Given the description of an element on the screen output the (x, y) to click on. 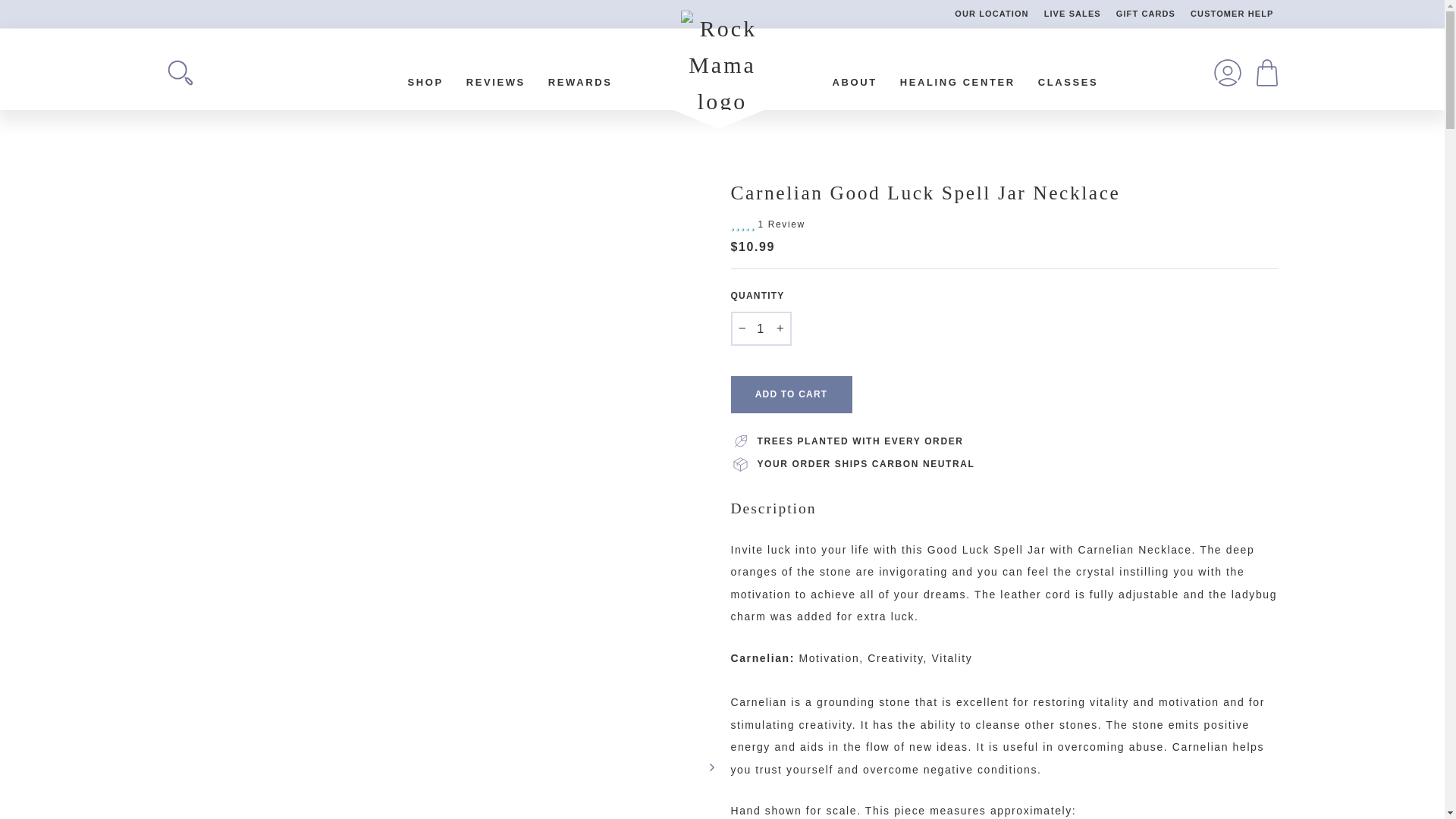
1 (761, 328)
